Given the description of an element on the screen output the (x, y) to click on. 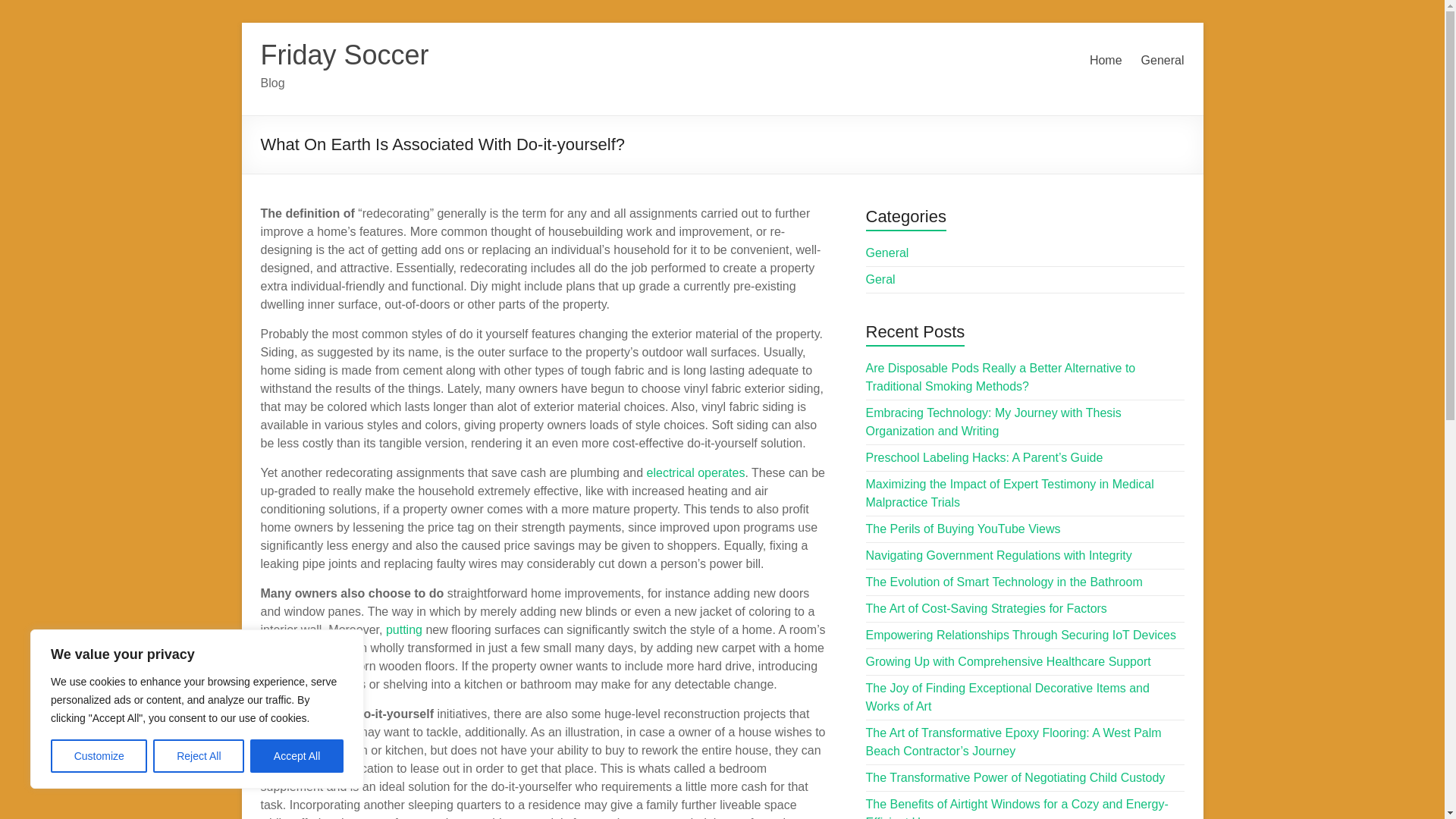
General (887, 252)
The Perils of Buying YouTube Views (963, 528)
The Evolution of Smart Technology in the Bathroom (1004, 581)
Navigating Government Regulations with Integrity (999, 554)
The Art of Cost-Saving Strategies for Factors (986, 608)
Friday Soccer (344, 54)
electrical operates (695, 472)
Geral (880, 278)
putting (403, 629)
Home (1105, 60)
Accept All (296, 756)
Reject All (198, 756)
